Given the description of an element on the screen output the (x, y) to click on. 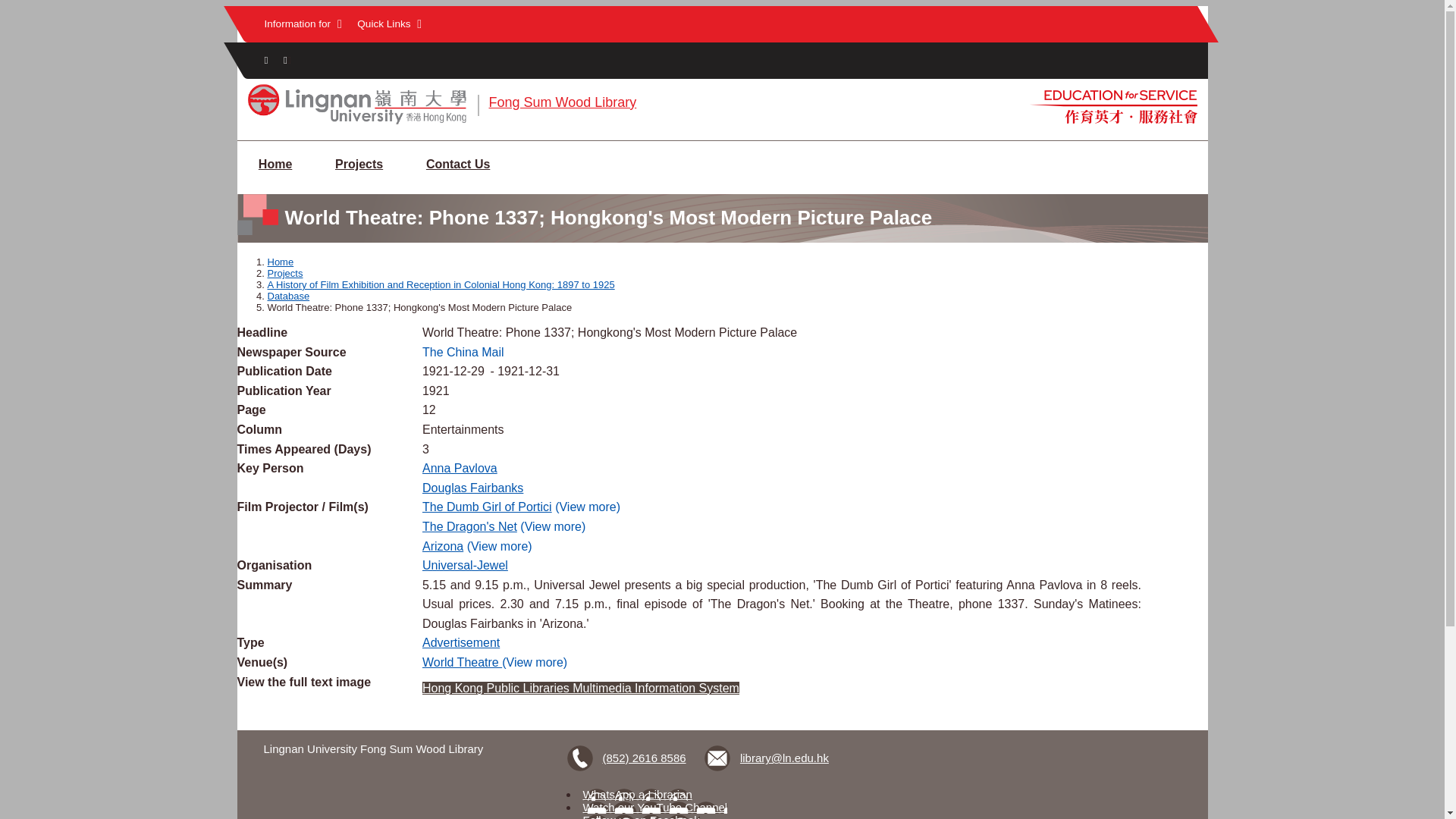
Phone Number (629, 758)
Quick Links (389, 23)
Fong Sum Wood Library (561, 102)
Email (766, 758)
Fong Sum Wood Library (561, 102)
Watch our YouTube Channel (655, 807)
World Theatre (462, 662)
Follow us on Facebook (641, 816)
Skip to main content (722, 7)
Lingnan University (356, 123)
WhatsApp a Librarian (638, 793)
Information for (301, 23)
